Given the description of an element on the screen output the (x, y) to click on. 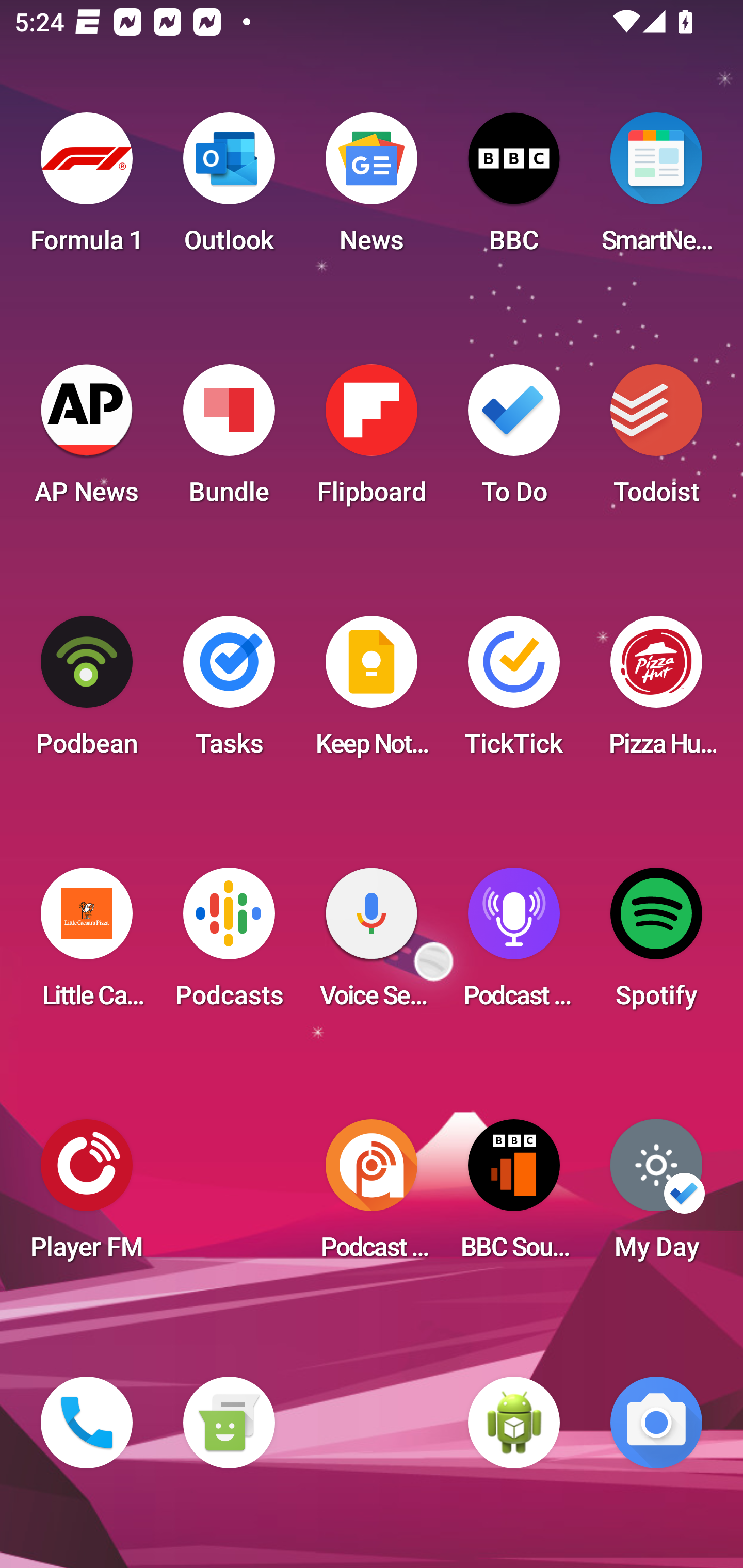
Formula 1 (86, 188)
Outlook (228, 188)
News (371, 188)
BBC (513, 188)
SmartNews (656, 188)
AP News (86, 440)
Bundle (228, 440)
Flipboard (371, 440)
To Do (513, 440)
Todoist (656, 440)
Podbean (86, 692)
Tasks (228, 692)
Keep Notes (371, 692)
TickTick (513, 692)
Pizza Hut HK & Macau (656, 692)
Little Caesars Pizza (86, 943)
Podcasts (228, 943)
Voice Search (371, 943)
Podcast Player (513, 943)
Spotify (656, 943)
Player FM (86, 1195)
Podcast Addict (371, 1195)
BBC Sounds (513, 1195)
My Day (656, 1195)
Phone (86, 1422)
Messaging (228, 1422)
WebView Browser Tester (513, 1422)
Camera (656, 1422)
